Given the description of an element on the screen output the (x, y) to click on. 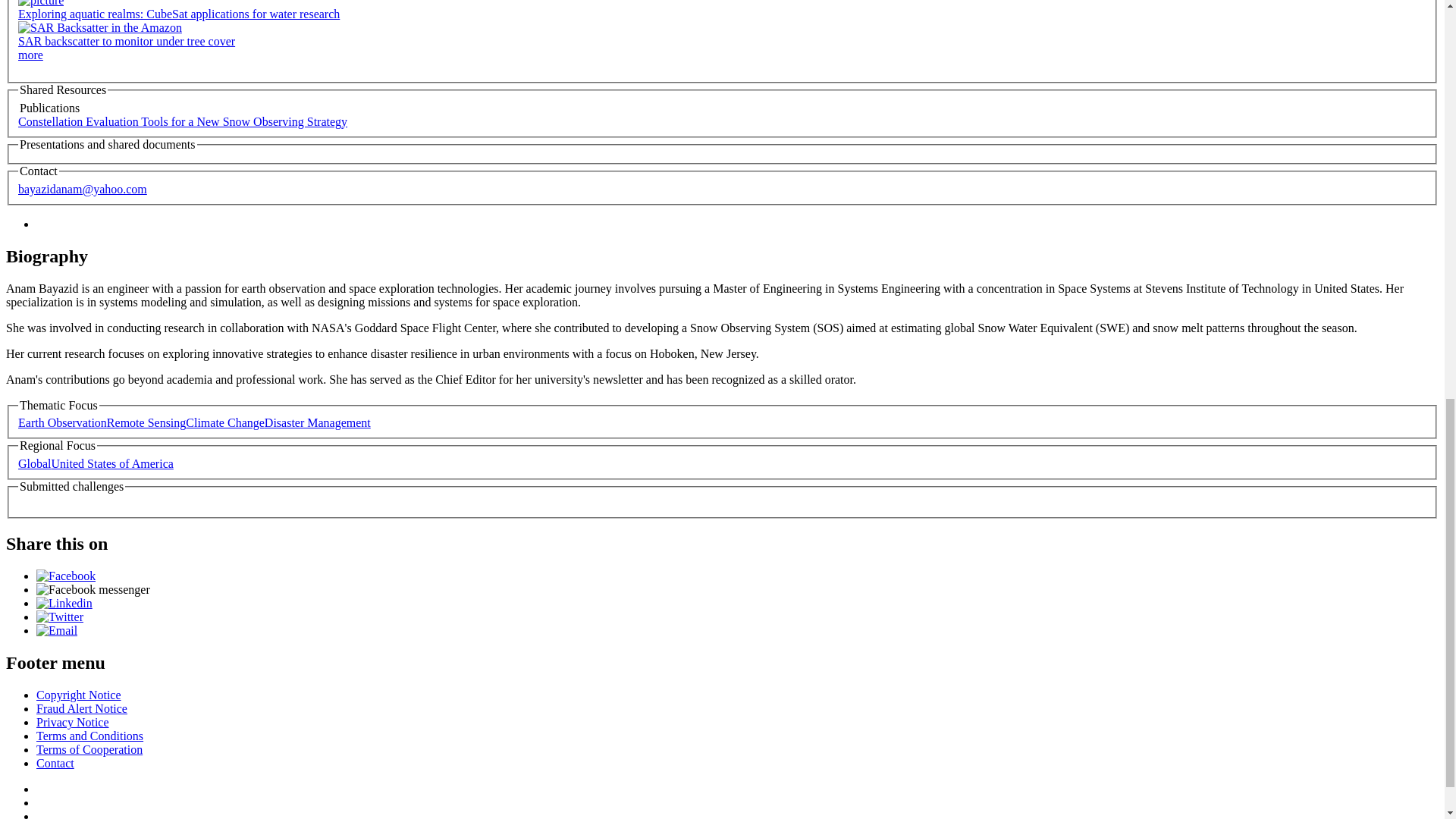
Facebook messenger (92, 589)
Twitter (59, 616)
Email (56, 630)
Linkedin (64, 603)
Facebook (66, 575)
